Given the description of an element on the screen output the (x, y) to click on. 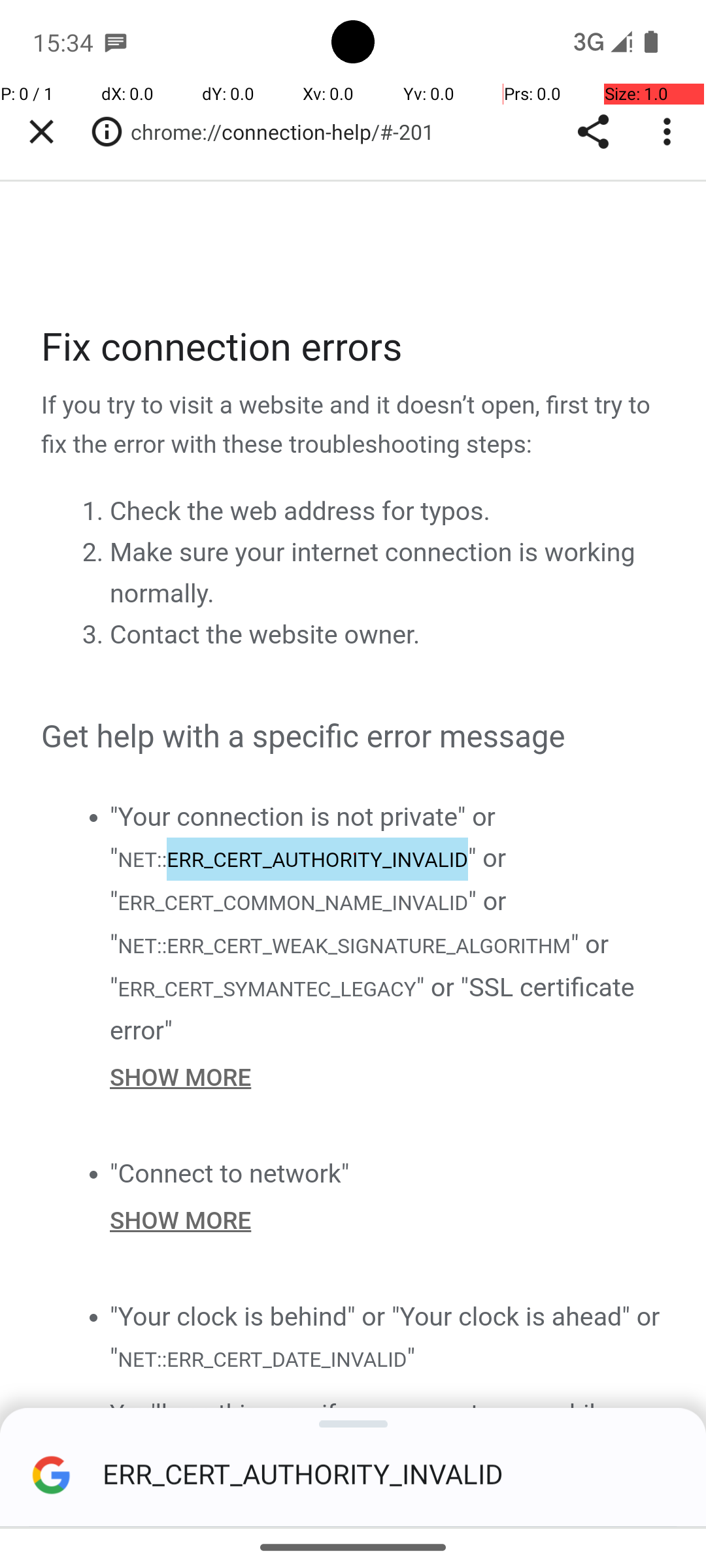
"Your clock is behind" or "Your clock is ahead" or " Element type: android.widget.TextView (384, 1337)
" Element type: android.widget.TextView (410, 1357)
You'll see this error if your computer or mobile device's date and time are inaccurate. Element type: android.widget.TextView (388, 1433)
To fix the error, open your device's clock. Make sure the time and date are correct. Element type: android.widget.TextView (388, 1512)
